Given the description of an element on the screen output the (x, y) to click on. 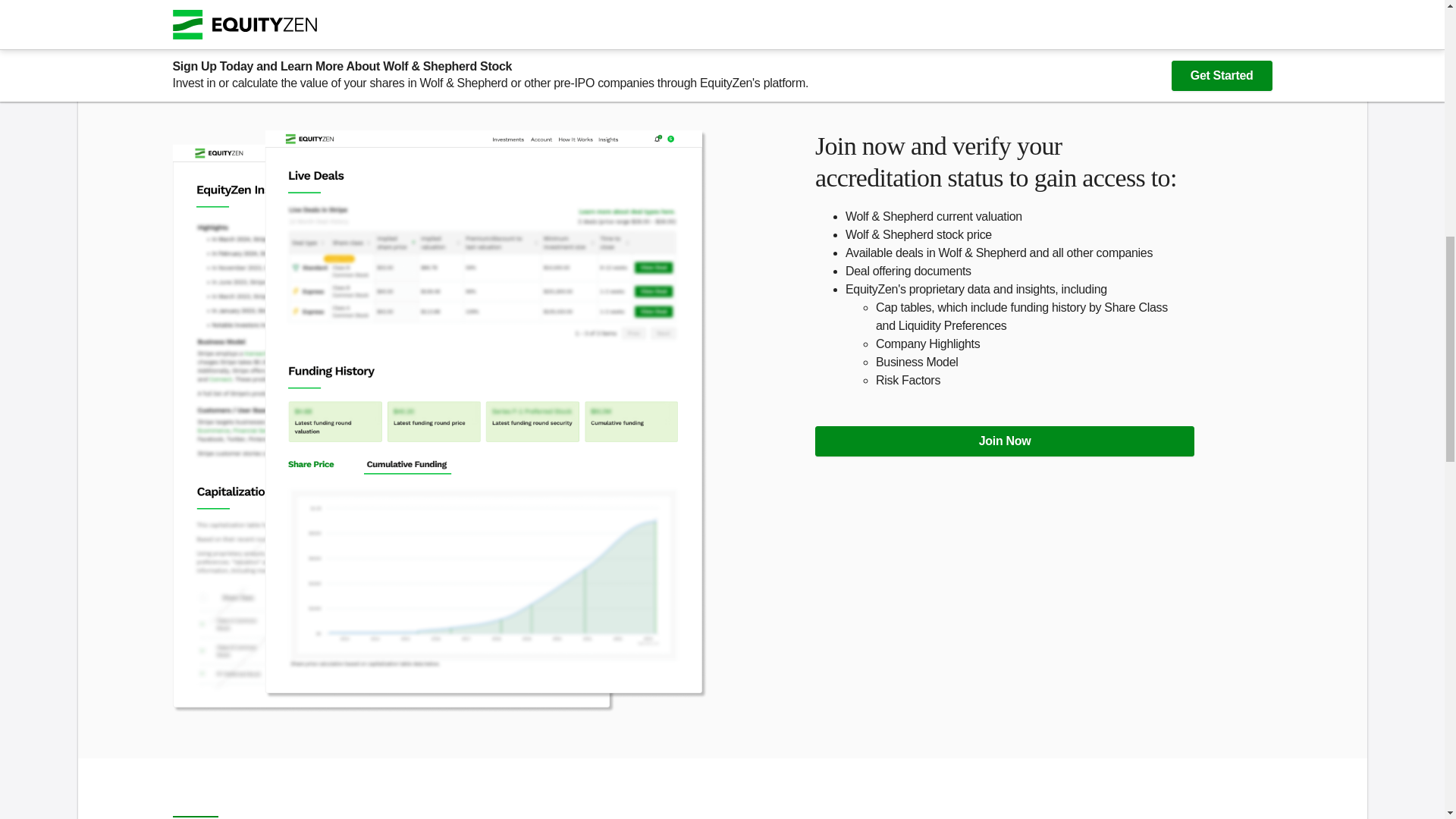
Join Now (1004, 440)
